Given the description of an element on the screen output the (x, y) to click on. 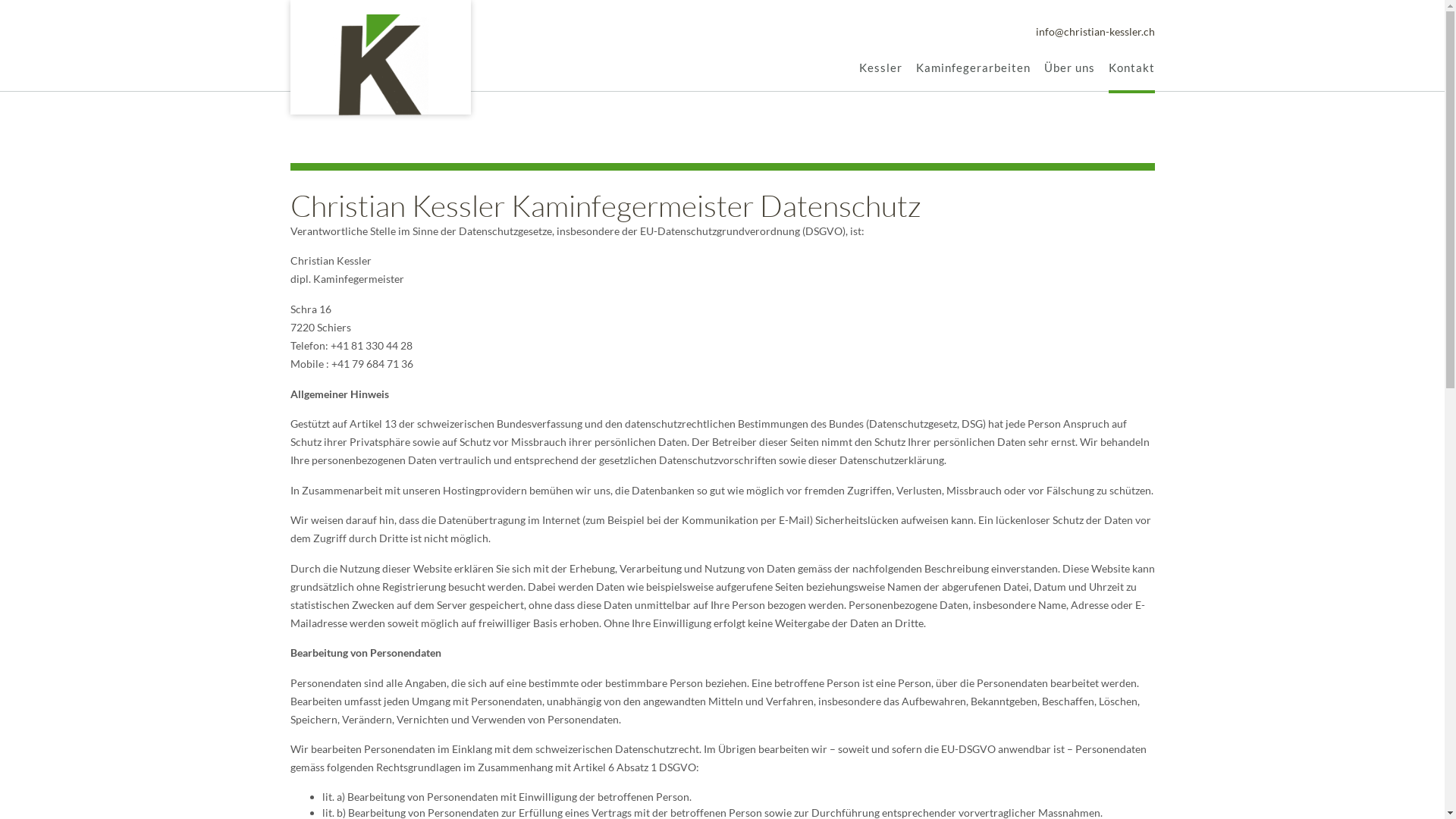
Kontakt Element type: text (1131, 67)
Christian Kessler - Kaminfegermeister Element type: hover (379, 66)
Kaminfegerarbeiten Element type: text (973, 67)
Kessler Element type: text (879, 67)
